Given the description of an element on the screen output the (x, y) to click on. 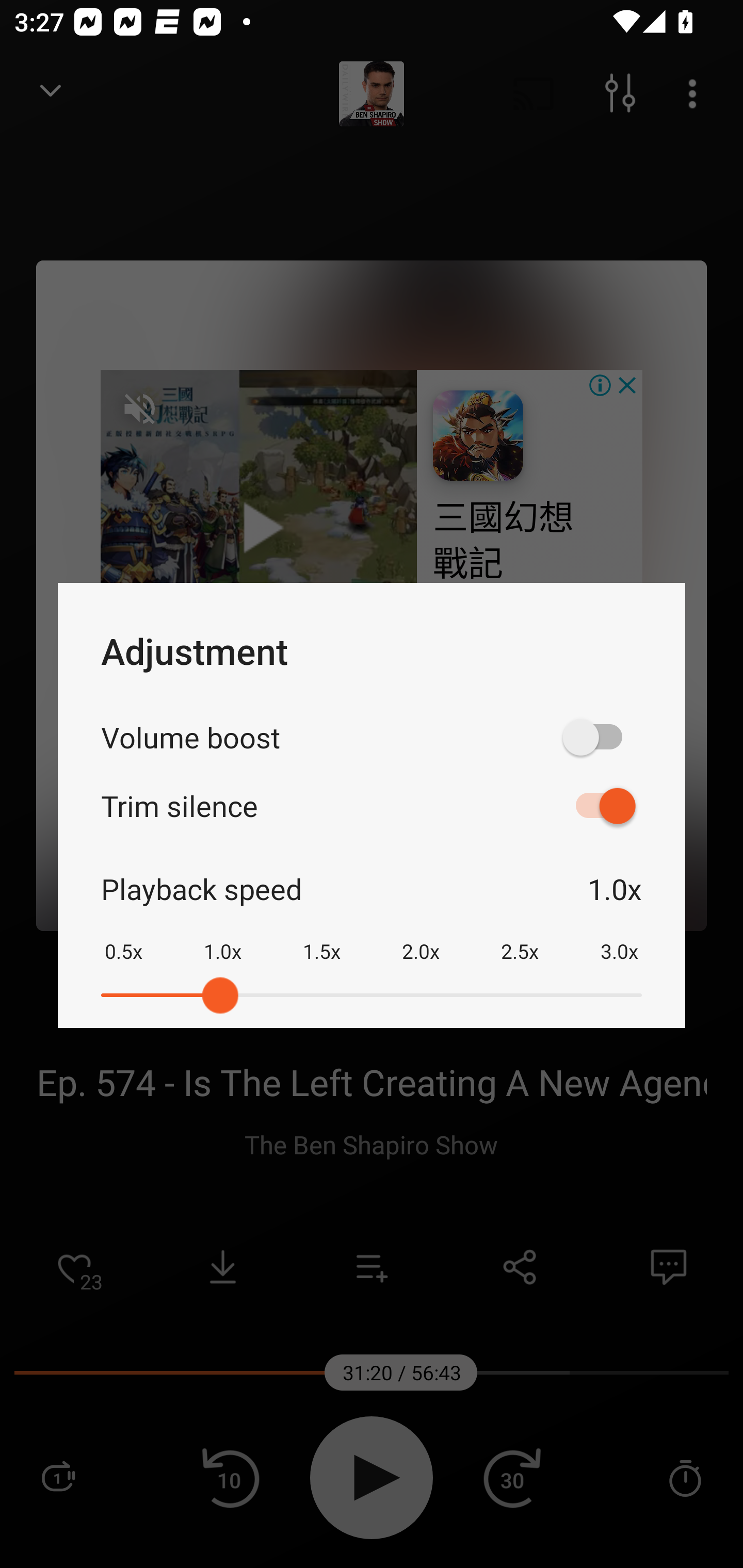
0.5x (123, 937)
1.0x (222, 937)
1.5x (321, 937)
2.0x (420, 937)
2.5x (519, 937)
3.0x (618, 937)
